Given the description of an element on the screen output the (x, y) to click on. 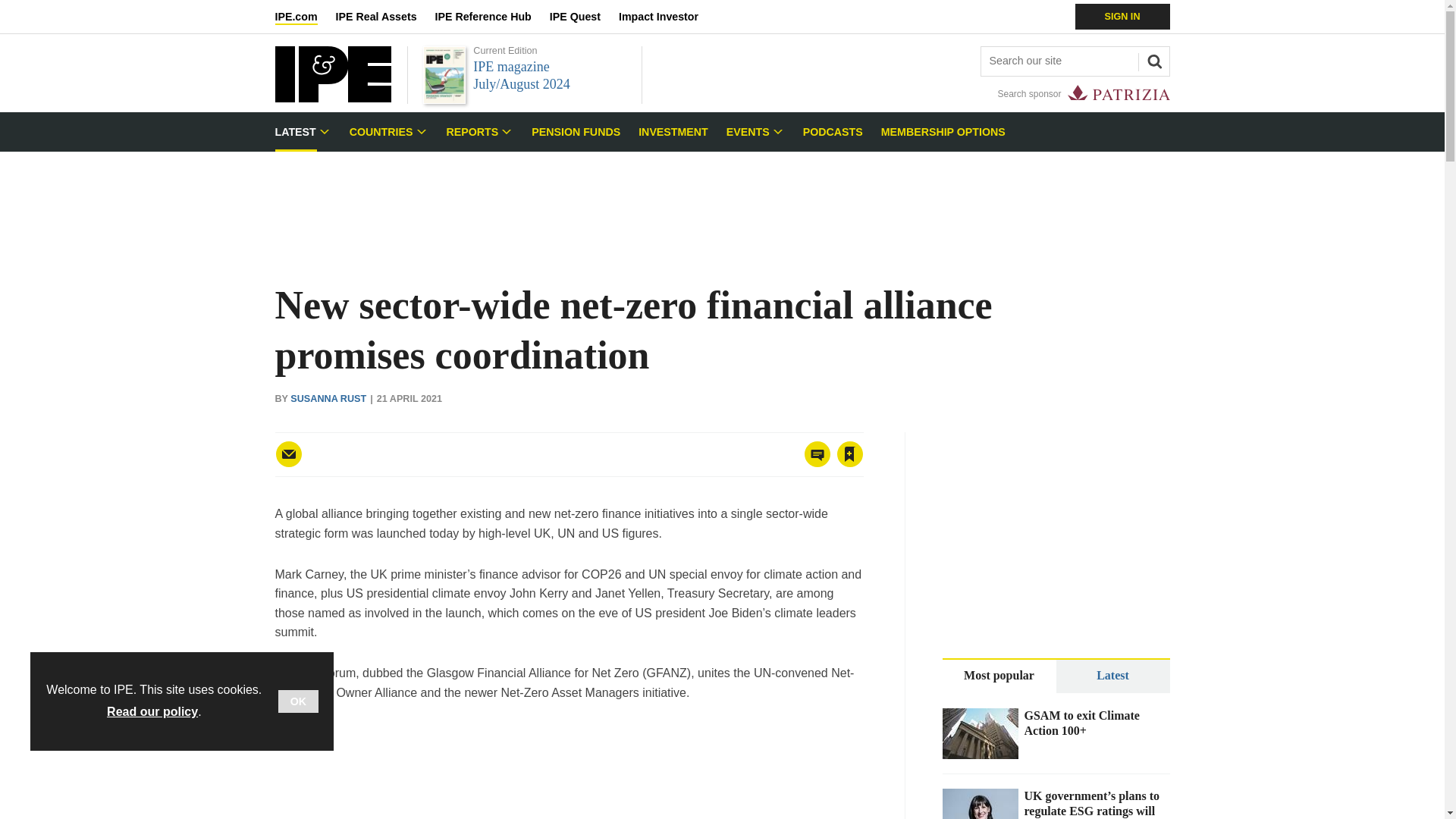
IPE Real Assets (384, 16)
SIGN IN (1122, 16)
Read our policy (152, 711)
SEARCH (1152, 59)
IPE (332, 97)
IPE Quest (583, 16)
Impact Investor (667, 16)
Impact Investor (667, 16)
Email this article (288, 452)
IPE Real Assets (384, 16)
